Given the description of an element on the screen output the (x, y) to click on. 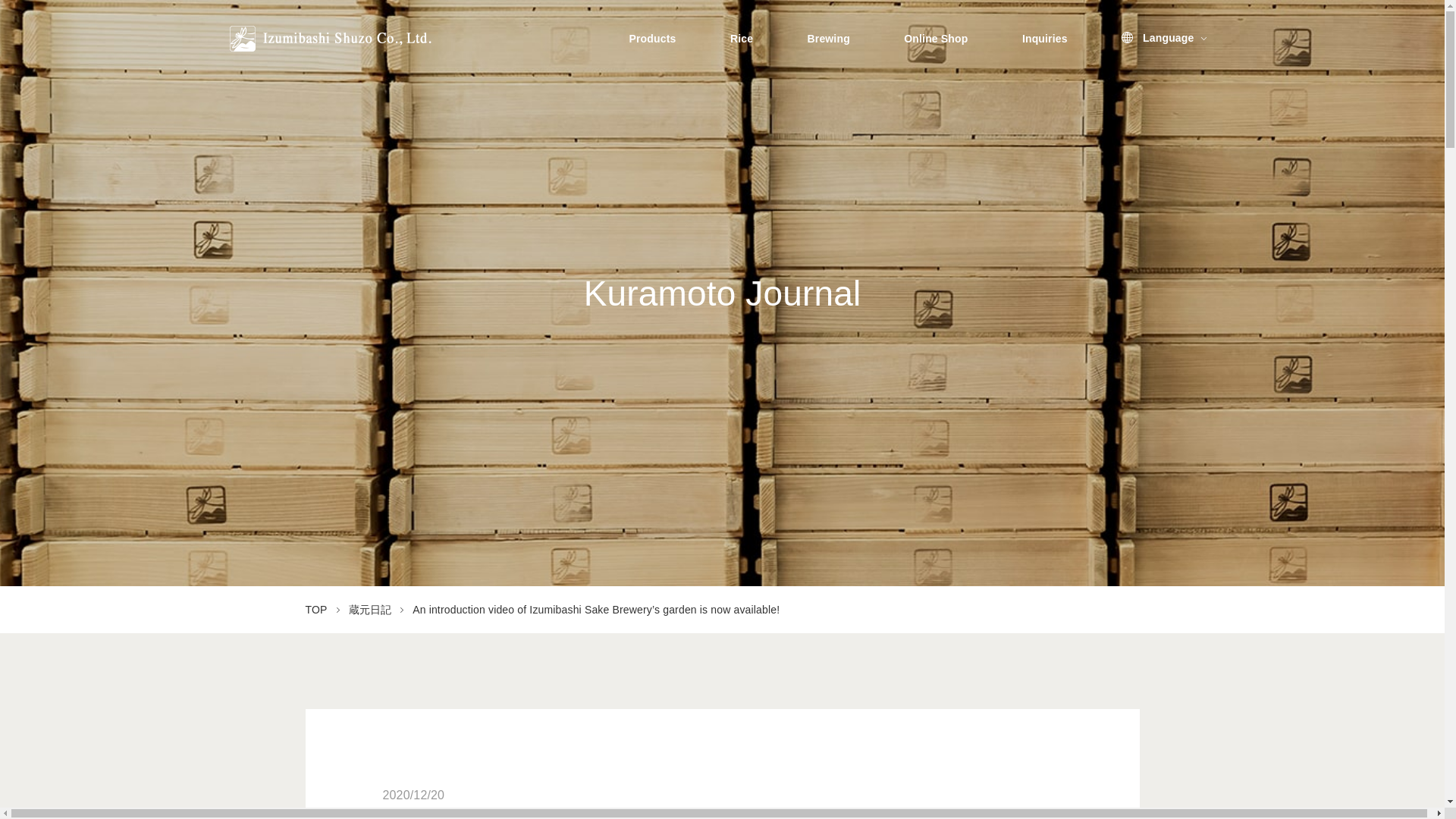
Go to Izumibashi Sake Brewery Co., Ltd.. (315, 609)
TOP (315, 609)
